Given the description of an element on the screen output the (x, y) to click on. 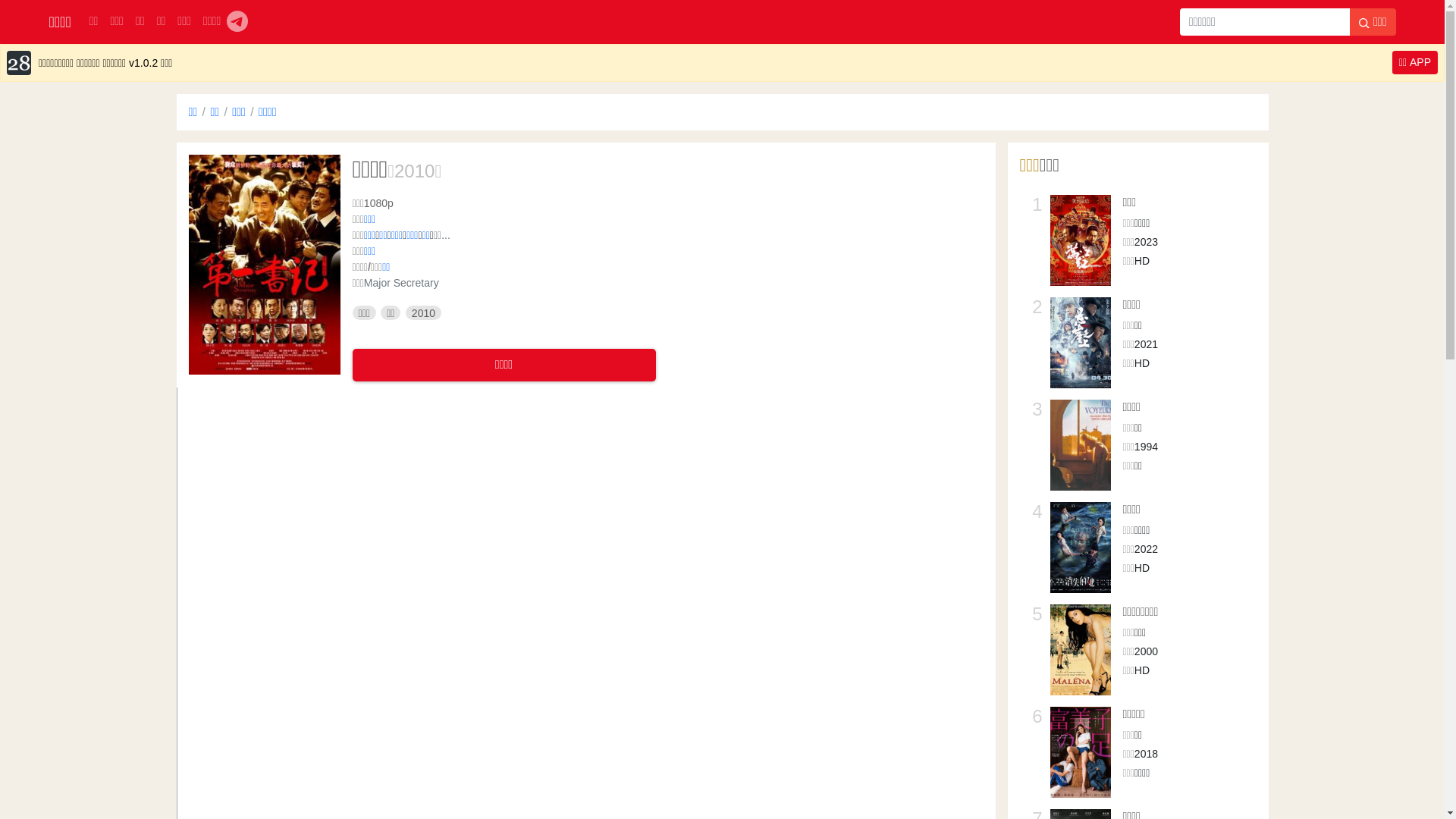
2010 Element type: text (423, 312)
2010 Element type: text (414, 170)
